Given the description of an element on the screen output the (x, y) to click on. 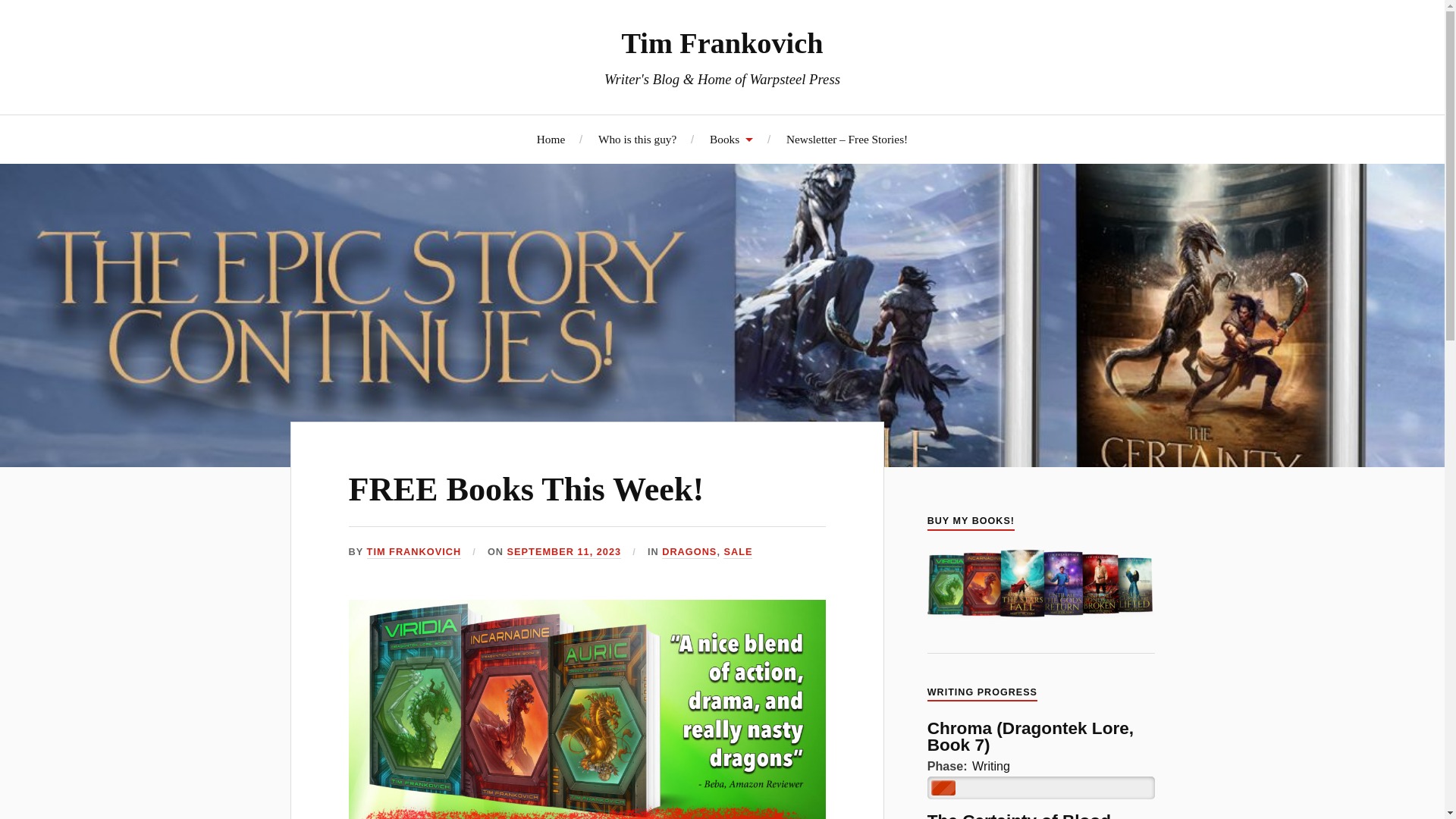
FREE Books This Week! (526, 488)
Books (731, 138)
Posts by Tim Frankovich (413, 552)
Tim Frankovich (721, 42)
Who is this guy? (637, 138)
TIM FRANKOVICH (413, 552)
